Given the description of an element on the screen output the (x, y) to click on. 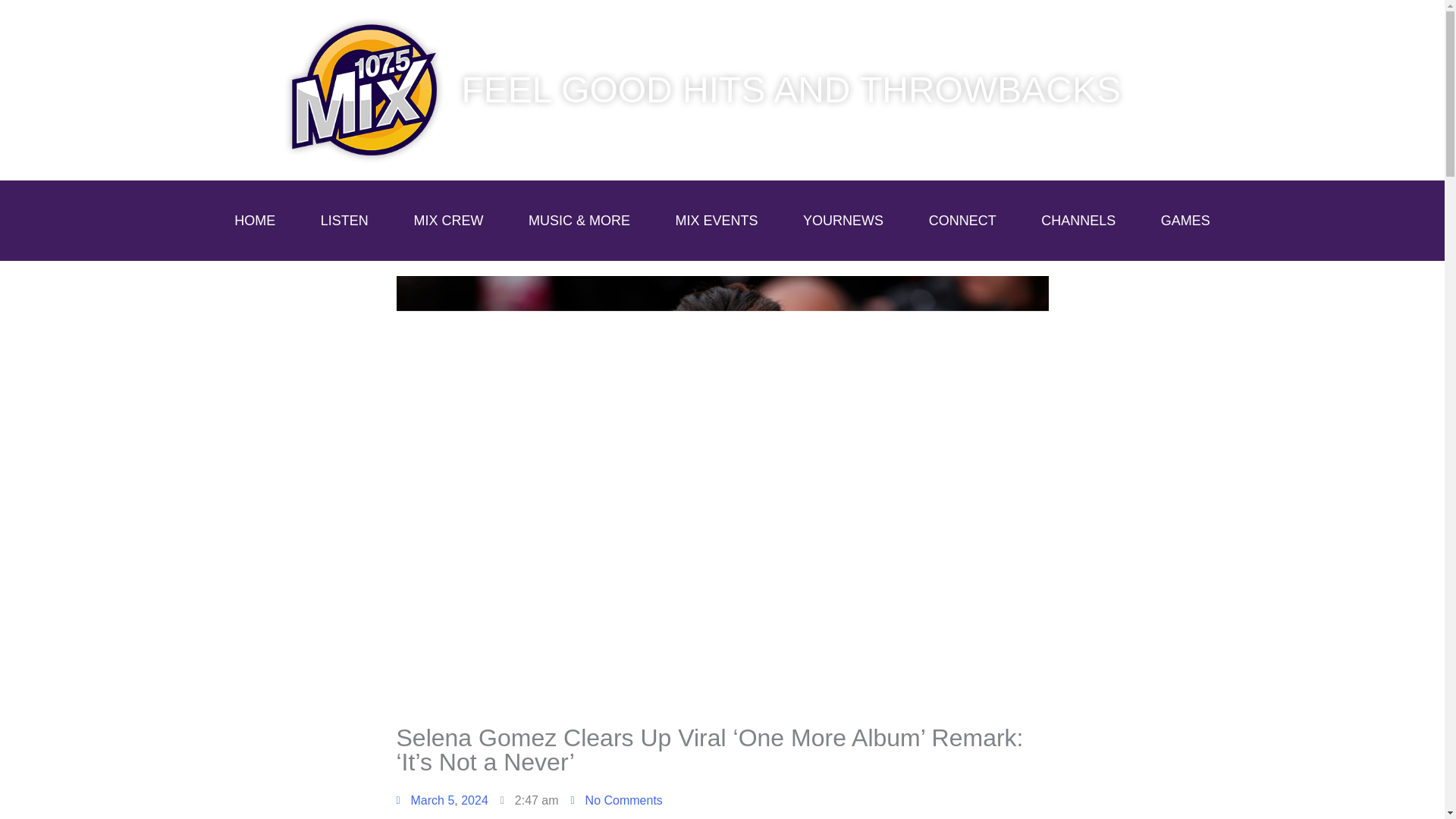
HOME (255, 220)
GAMES (1185, 220)
MIX EVENTS (716, 220)
YOURNEWS (842, 220)
CONNECT (962, 220)
LISTEN (344, 220)
CHANNELS (1077, 220)
MIX CREW (448, 220)
